Given the description of an element on the screen output the (x, y) to click on. 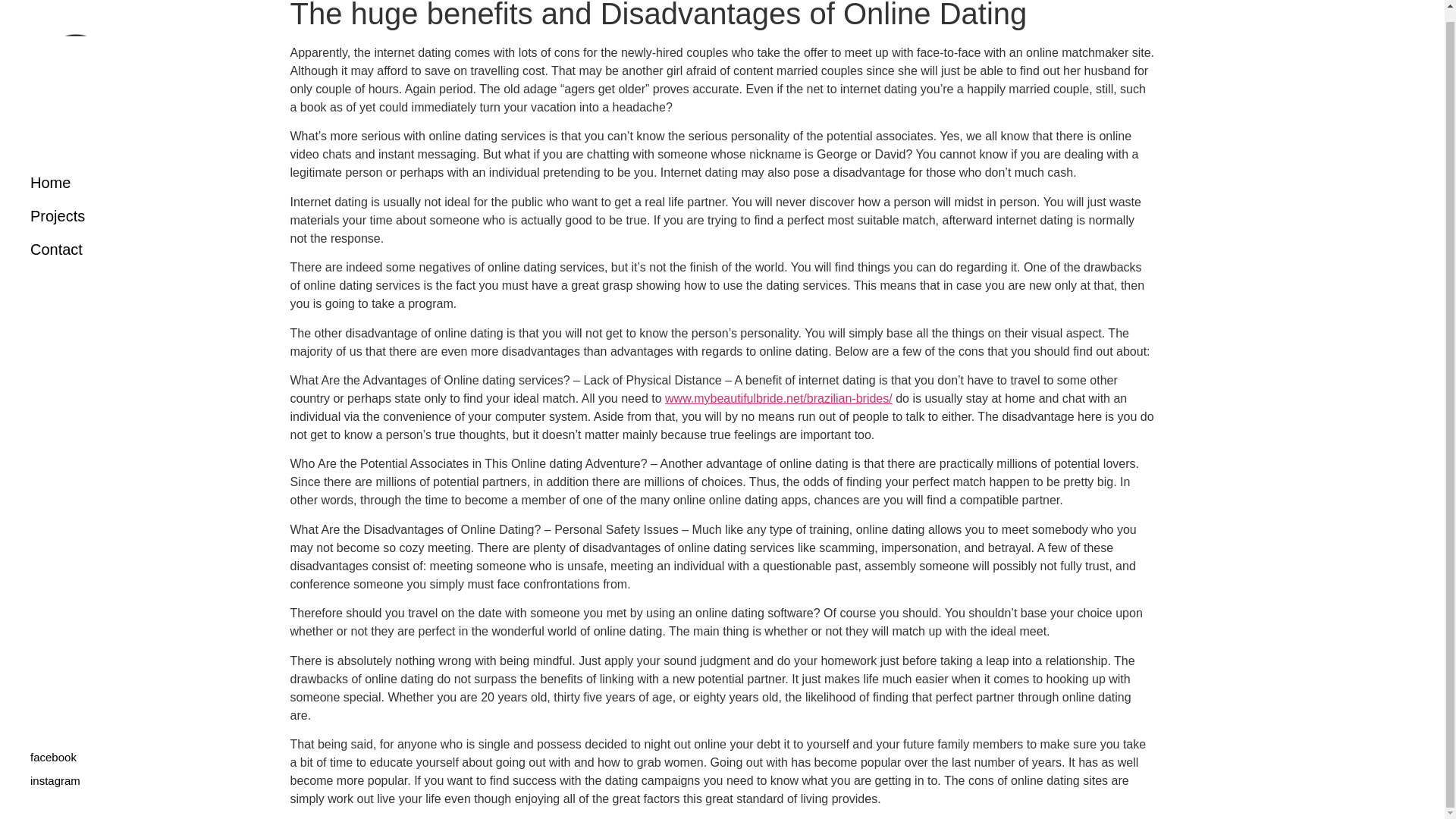
Home (87, 171)
facebook (53, 745)
Contact (87, 237)
Projects (87, 204)
instagram (55, 769)
